Given the description of an element on the screen output the (x, y) to click on. 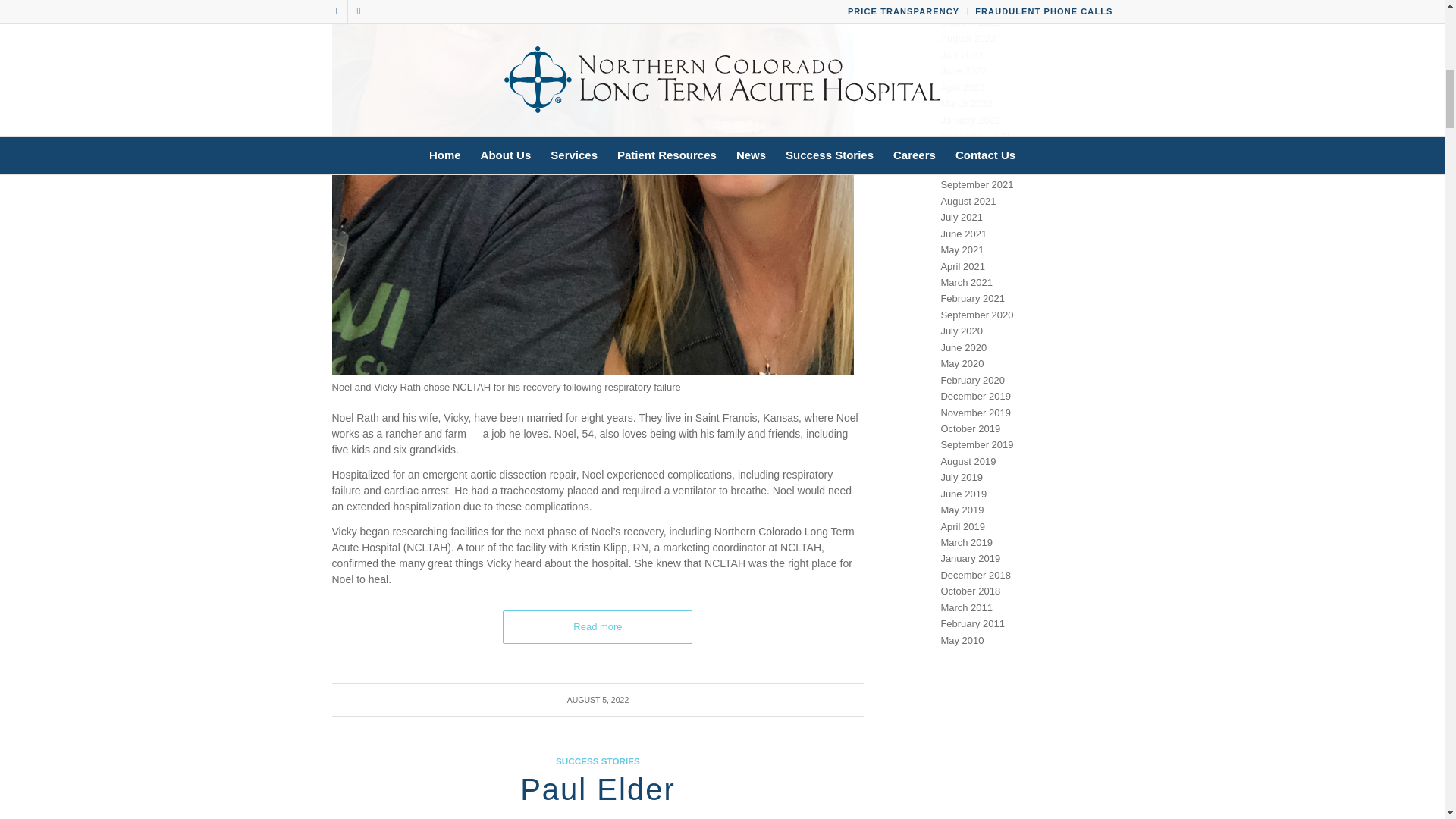
Permanent Link: Paul Elder (597, 788)
